Given the description of an element on the screen output the (x, y) to click on. 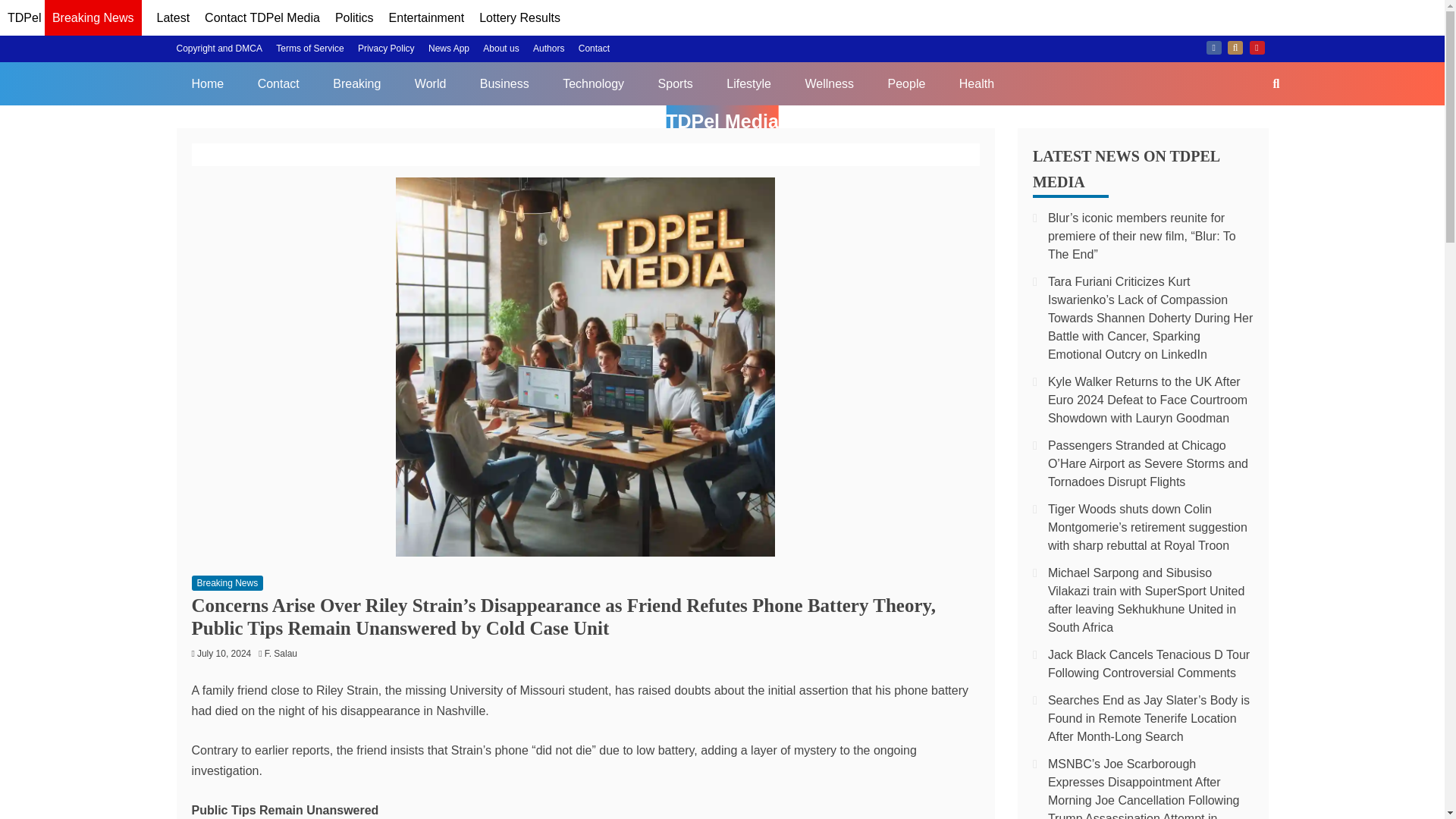
July 10, 2024 (223, 653)
Technology (593, 83)
Pinterest (1257, 47)
Breaking News (93, 19)
Lottery Results (519, 17)
F. Salau (284, 653)
Contact (594, 48)
X (1235, 47)
Authors (548, 48)
Home (207, 83)
Privacy Policy (386, 48)
TDPel (23, 17)
Entertainment (426, 17)
Contact (278, 83)
News App (448, 48)
